Given the description of an element on the screen output the (x, y) to click on. 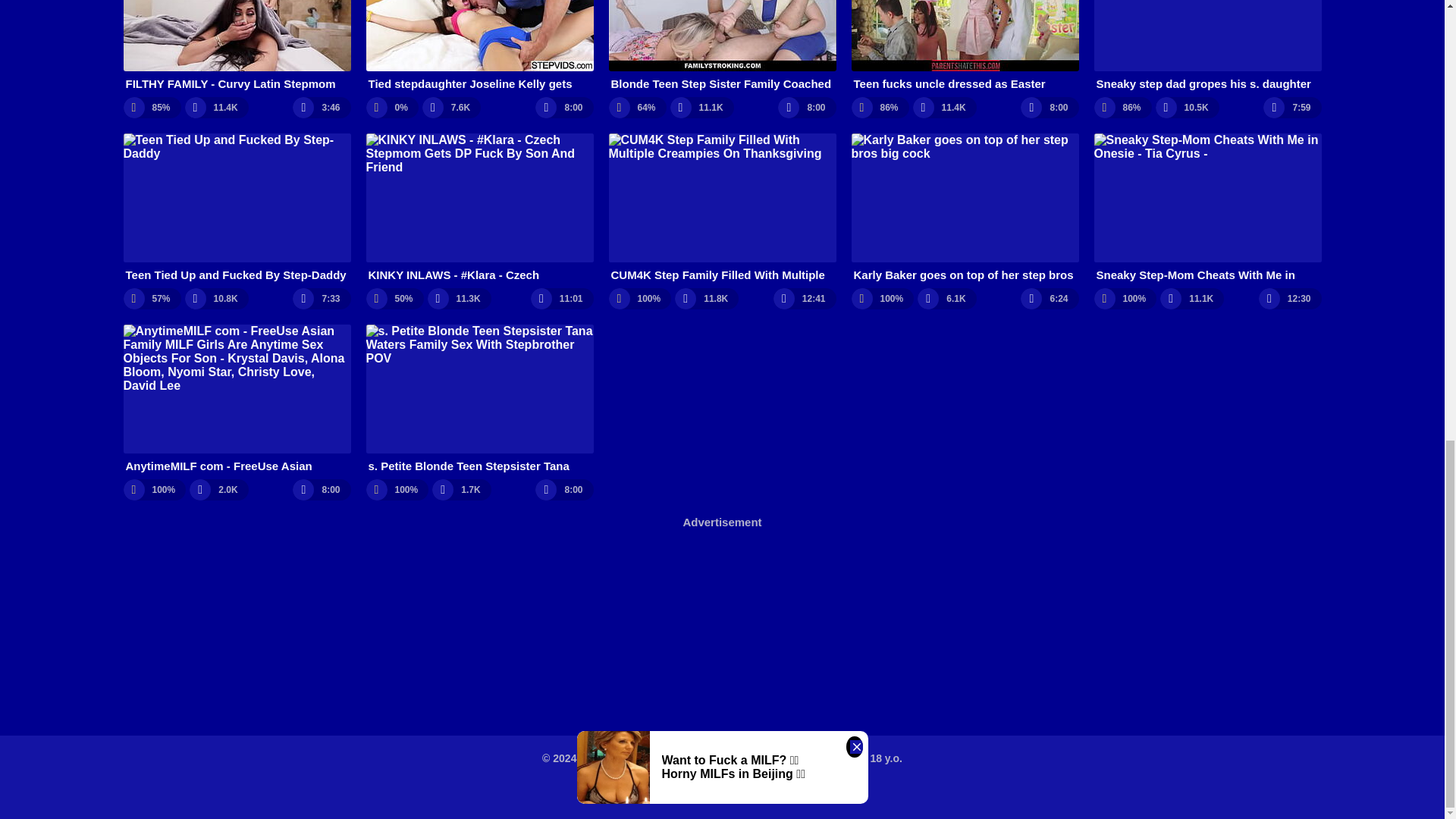
DMCA (694, 792)
Teen Tied Up and Fucked By Step-Daddy (236, 207)
Teen fucks uncle dressed as Easter Bunny (964, 45)
Teen Tied Up and Fucked By Step-Daddy (236, 207)
Tied stepdaughter Joseline Kelly gets used (478, 45)
Karly Baker goes on top of her step bros big cock (964, 207)
